Given the description of an element on the screen output the (x, y) to click on. 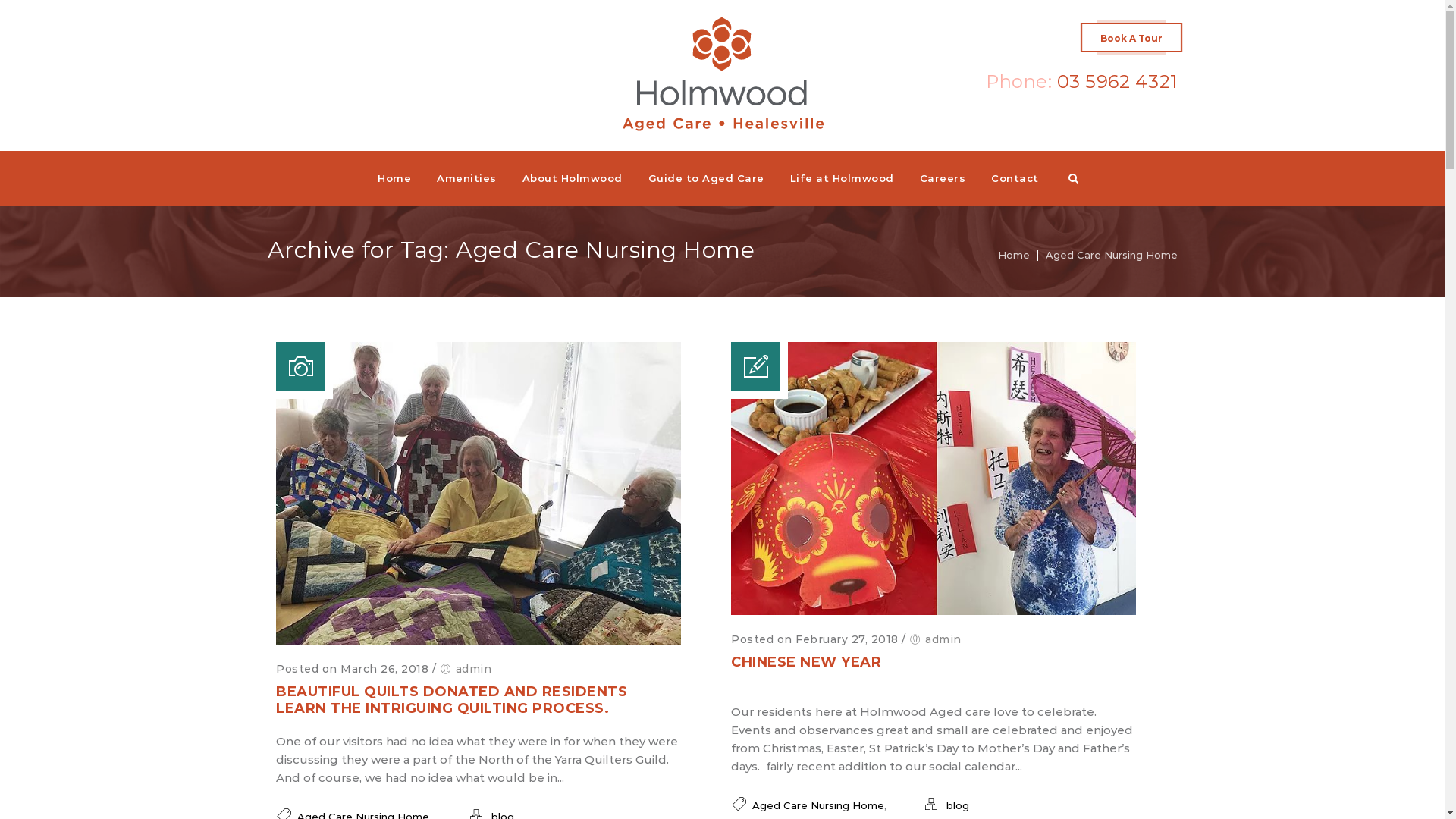
Book A Tour Element type: text (1130, 37)
Guide to Aged Care Element type: text (706, 177)
Permalink to Chinese New Year Element type: hover (933, 611)
About Holmwood Element type: text (572, 177)
Life at Holmwood Element type: text (841, 177)
Aged Care Nursing Home Element type: text (818, 805)
Amenities Element type: text (466, 177)
Home Element type: text (1013, 254)
Prev Element type: text (262, 493)
Home Element type: text (394, 177)
admin Element type: text (473, 668)
Contact Element type: text (1014, 177)
admin Element type: text (943, 639)
CHINESE NEW YEAR Element type: text (806, 661)
Careers Element type: text (942, 177)
blog Element type: text (957, 805)
Aged Care Nursing Home Element type: text (1110, 254)
